Given the description of an element on the screen output the (x, y) to click on. 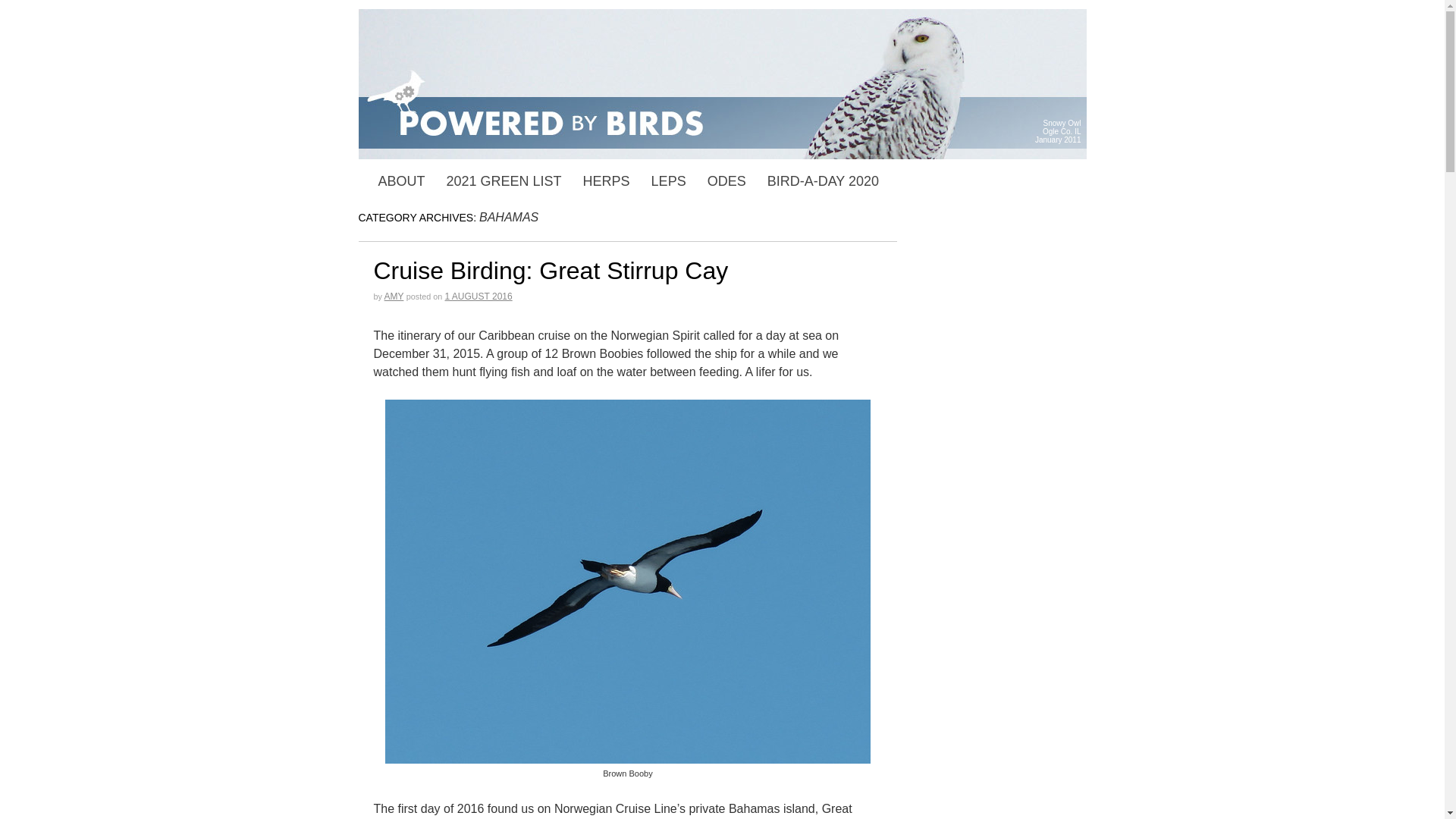
Brown Booby (627, 580)
AMY (394, 296)
ODES (727, 181)
HERPS (606, 181)
BIRD-A-DAY 2020 (823, 181)
Cruise Birding: Great Stirrup Cay (550, 270)
2021 GREEN LIST (503, 181)
Powered by Birds (722, 83)
View all posts by Amy (394, 296)
ABOUT (400, 181)
